Given the description of an element on the screen output the (x, y) to click on. 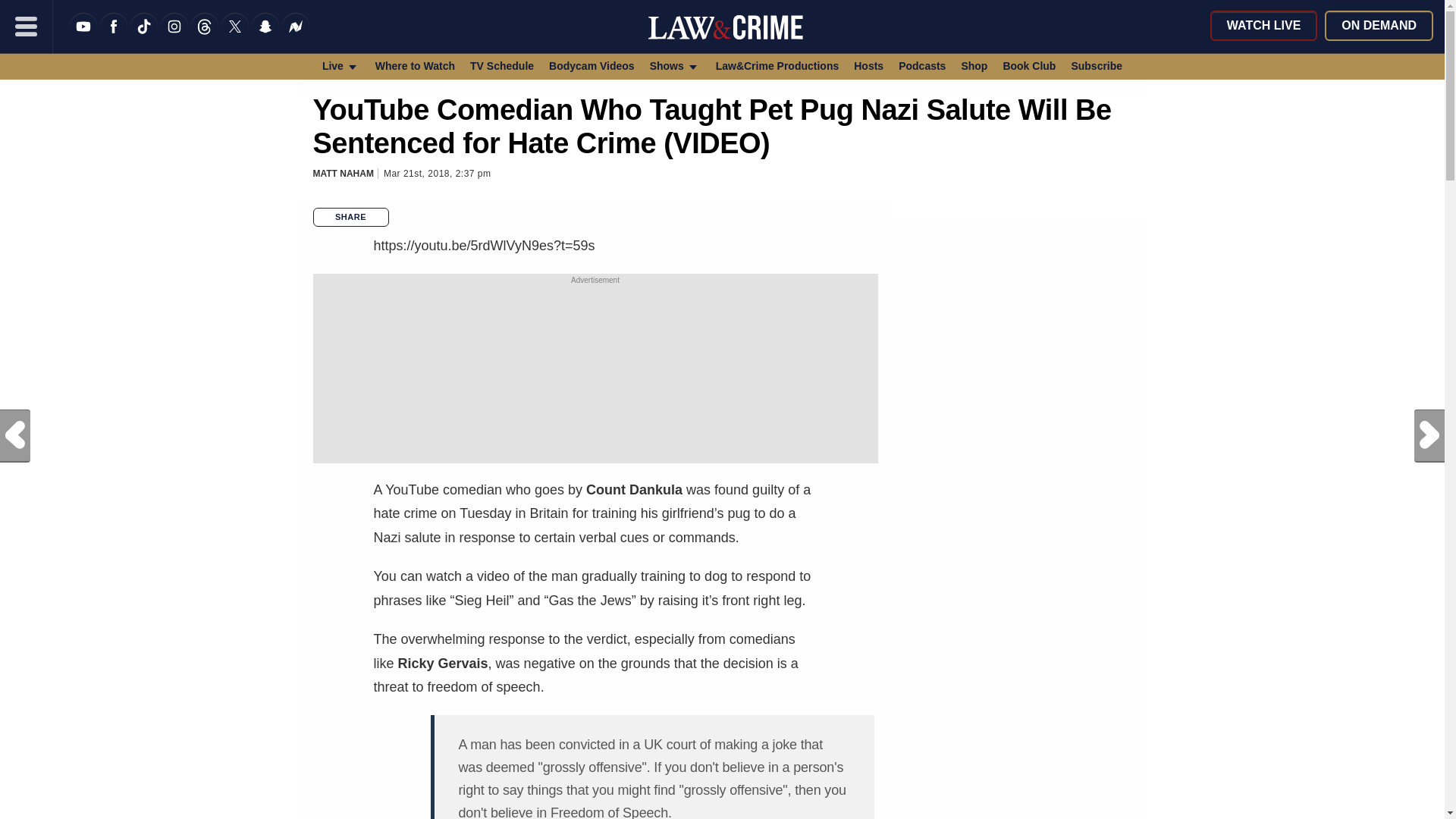
Posts by Matt Naham (342, 173)
Threads (204, 35)
News Break (295, 35)
Instagram (173, 35)
Like us on Facebook (114, 35)
YouTube (83, 35)
Snapchat (265, 35)
TikTok (144, 35)
